Given the description of an element on the screen output the (x, y) to click on. 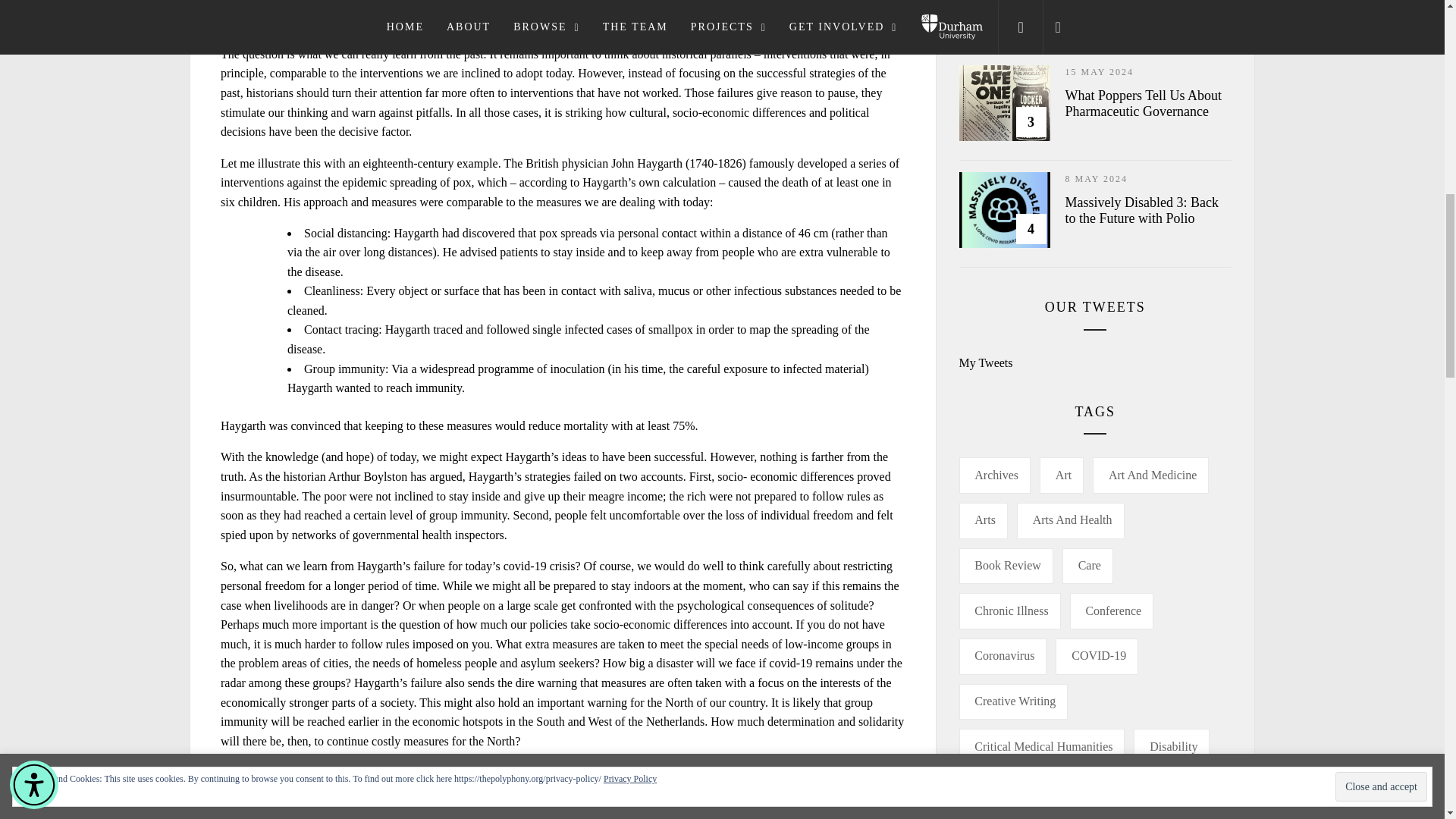
Aletta Jacobs School for Public Health (654, 803)
